Given the description of an element on the screen output the (x, y) to click on. 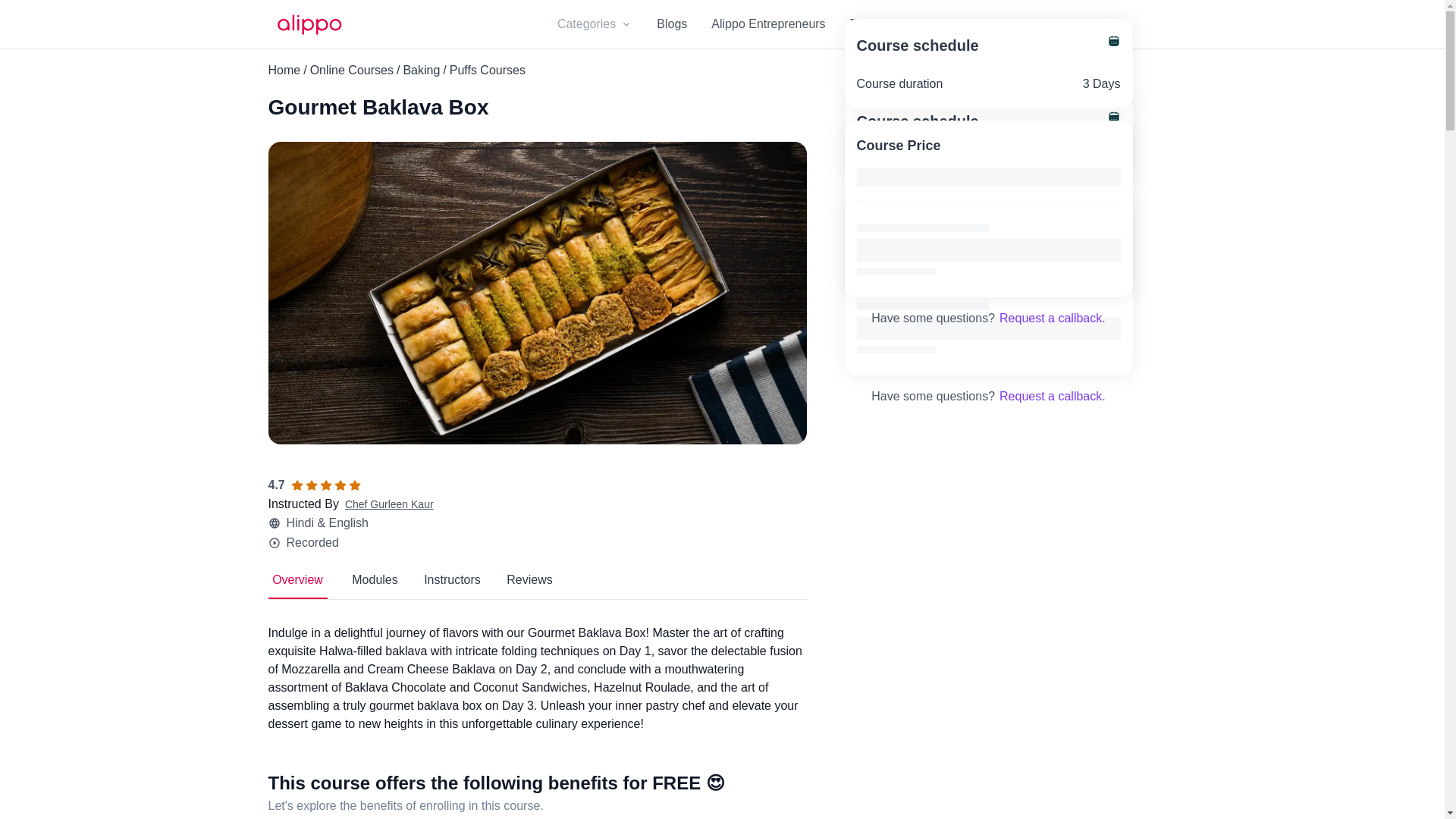
Puffs Courses (487, 70)
Home (284, 70)
Reviews (529, 584)
Instructors (452, 584)
Alippo Entrepreneurs (768, 23)
Puffs Courses (487, 70)
Blogs (671, 23)
Categories (594, 23)
Online Courses (536, 585)
Overview (351, 70)
Baking (297, 584)
Chef Gurleen Kaur (421, 70)
Alippo (389, 503)
